Given the description of an element on the screen output the (x, y) to click on. 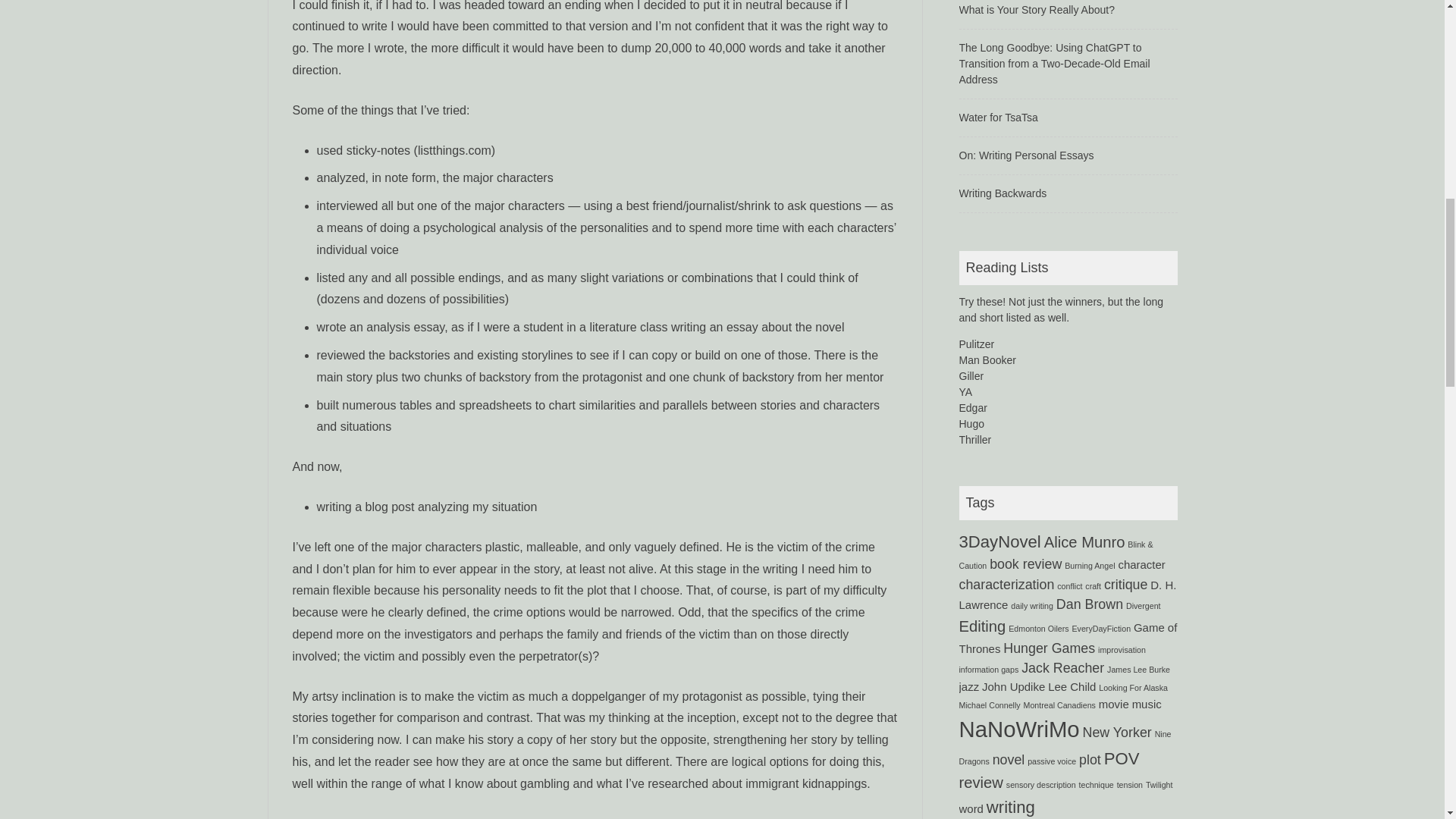
Giller (971, 376)
What is Your Story Really About? (1035, 9)
On: Writing Personal Essays (1025, 155)
YA (965, 391)
Pulitzer (976, 344)
Writing Backwards (1002, 193)
Water for TsaTsa (997, 117)
Man Booker (986, 359)
